Given the description of an element on the screen output the (x, y) to click on. 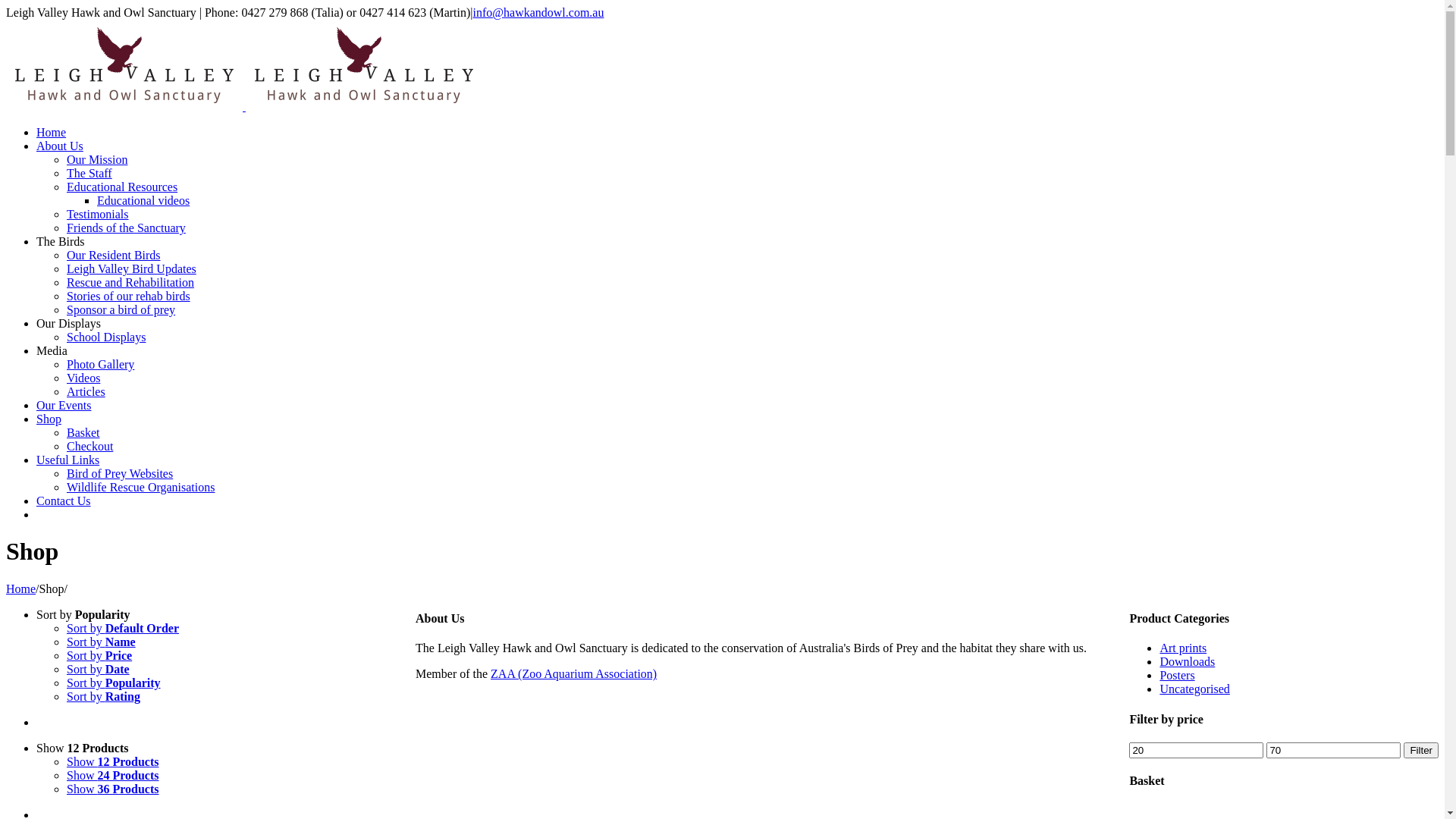
Shop Element type: text (48, 418)
Sort by Date Element type: text (97, 668)
Show 12 Products Element type: text (82, 747)
Sort by Default Order Element type: text (122, 627)
Bird of Prey Websites Element type: text (119, 473)
Wildlife Rescue Organisations Element type: text (140, 486)
About Us Element type: text (59, 145)
Sort by Rating Element type: text (103, 696)
Sponsor a bird of prey Element type: text (120, 309)
Sort by Popularity Element type: text (113, 682)
Photo Gallery Element type: text (100, 363)
Our Mission Element type: text (96, 159)
Sort by Name Element type: text (100, 641)
Useful Links Element type: text (67, 459)
The Birds Element type: text (60, 241)
Show 12 Products Element type: text (112, 761)
Leigh Valley Bird Updates Element type: text (131, 268)
Home Element type: text (50, 131)
Stories of our rehab birds Element type: text (128, 295)
Downloads Element type: text (1186, 661)
Media Element type: text (51, 350)
Videos Element type: text (83, 377)
Home Element type: text (20, 588)
Articles Element type: text (85, 391)
Testimonials Element type: text (97, 213)
Our Events Element type: text (63, 404)
Posters Element type: text (1176, 674)
Contact Us Element type: text (63, 500)
Educational Resources Element type: text (121, 186)
Basket Element type: text (83, 432)
Our Displays Element type: text (68, 322)
School Displays Element type: text (105, 336)
Checkout Element type: text (89, 445)
Show 36 Products Element type: text (112, 788)
info@hawkandowl.com.au Element type: text (538, 12)
ZAA (Zoo Aquarium Association) Element type: text (573, 673)
Our Resident Birds Element type: text (113, 254)
Rescue and Rehabilitation Element type: text (130, 282)
Filter Element type: text (1420, 750)
Sort by Popularity Element type: text (83, 614)
Educational videos Element type: text (143, 200)
Uncategorised Element type: text (1194, 688)
Art prints Element type: text (1182, 647)
The Staff Element type: text (89, 172)
Sort by Price Element type: text (98, 655)
Friends of the Sanctuary Element type: text (125, 227)
Show 24 Products Element type: text (112, 774)
